Given the description of an element on the screen output the (x, y) to click on. 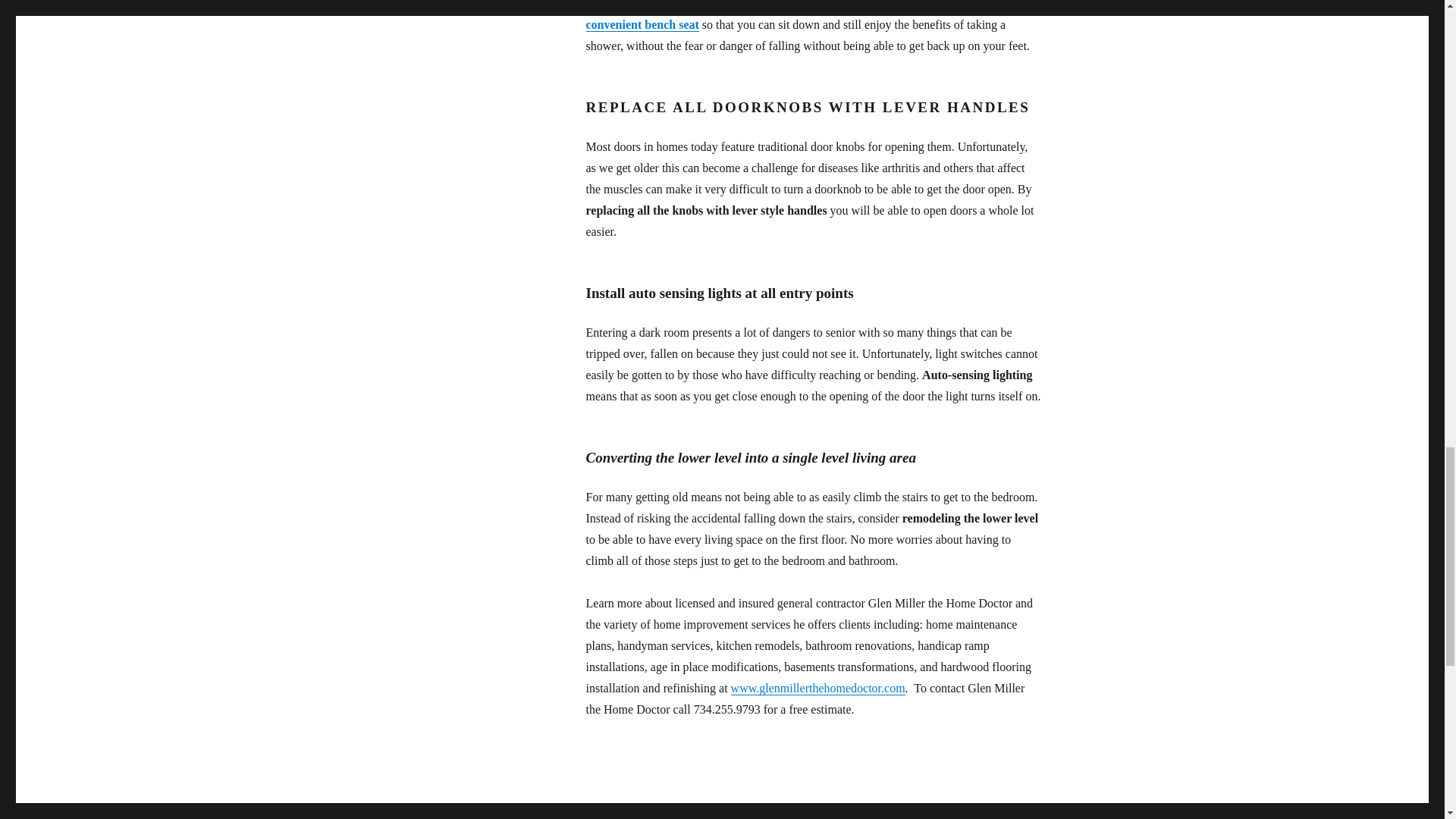
www.glenmillerthehomedoctor.com (817, 687)
adding a convenient bench seat (791, 15)
